Given the description of an element on the screen output the (x, y) to click on. 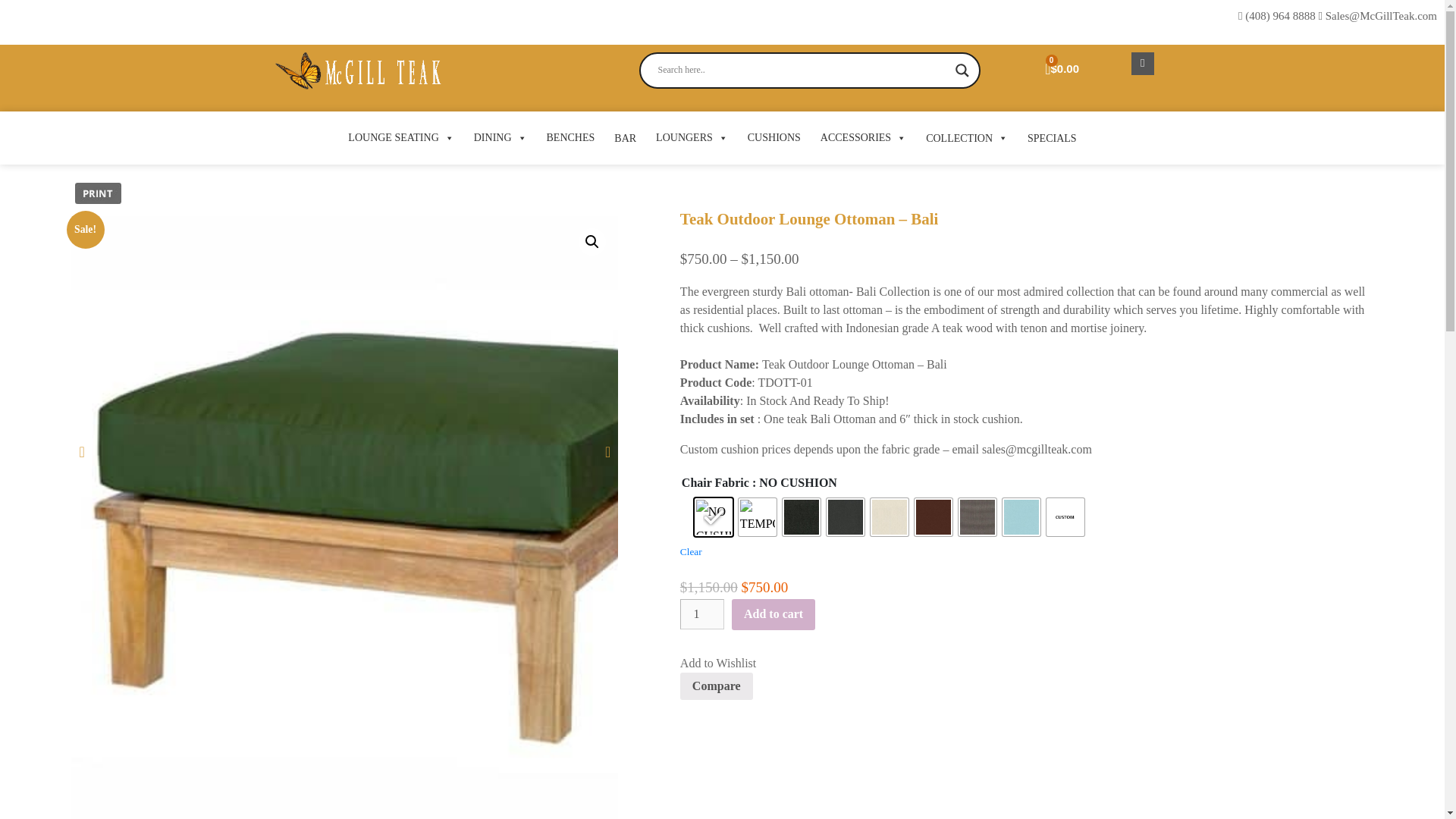
SAND-GRAPHITE (845, 516)
RAFFAELLO-CARBON (802, 516)
TEMPOTEST-ANTIQUE-BEIGE (757, 516)
1 (701, 613)
CANVAS COAL (976, 516)
NO CUSHION (713, 516)
CANVAS BAY BROWN (933, 516)
CANVAS-OYSTER (889, 516)
CANVAS-MINERAL-BLUE (1022, 516)
